Given the description of an element on the screen output the (x, y) to click on. 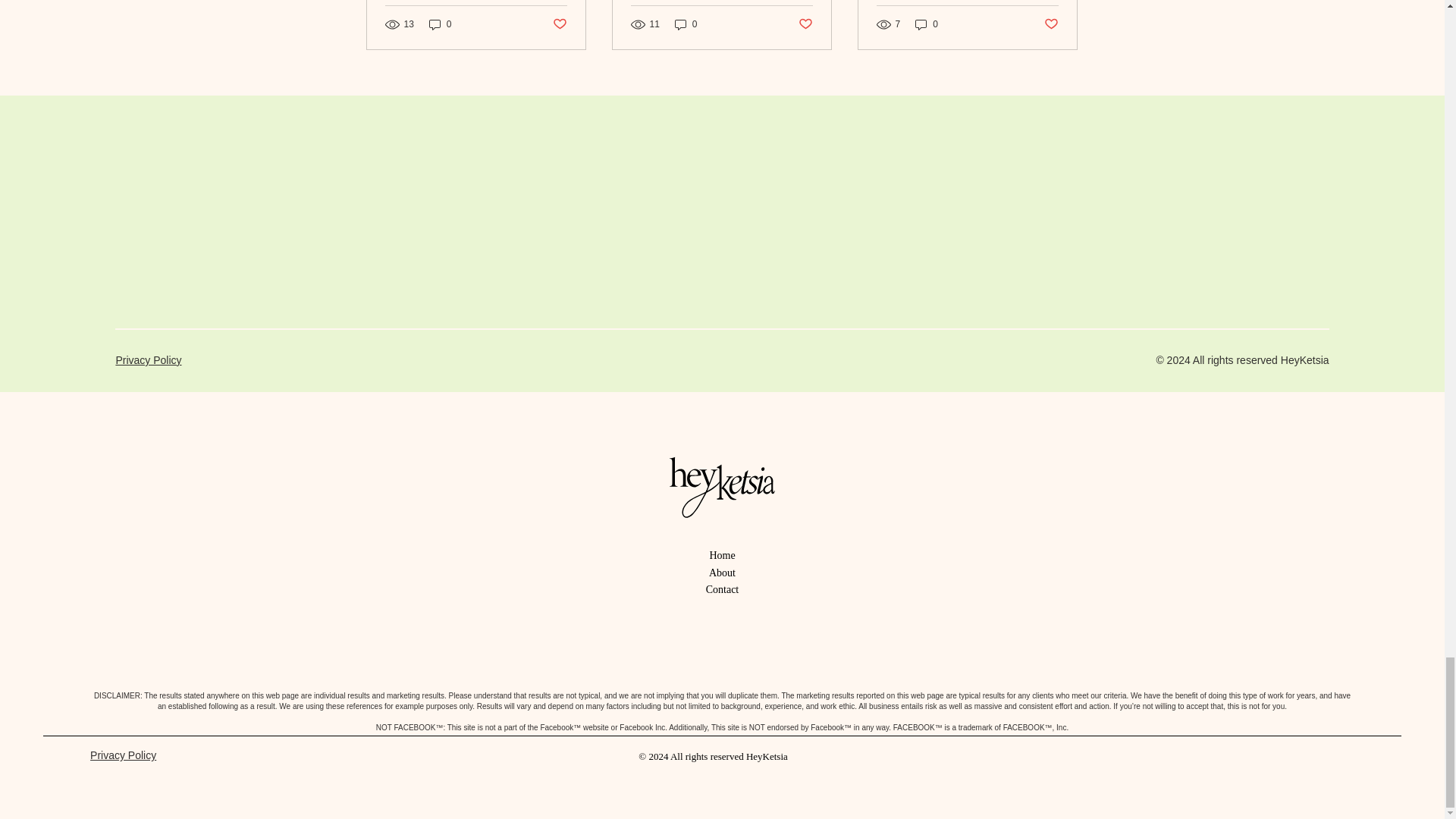
Post not marked as liked (558, 24)
Privacy Policy (122, 755)
Post not marked as liked (804, 24)
Privacy Policy (147, 359)
0 (440, 24)
0 (685, 24)
0 (926, 24)
Post not marked as liked (1050, 24)
